Given the description of an element on the screen output the (x, y) to click on. 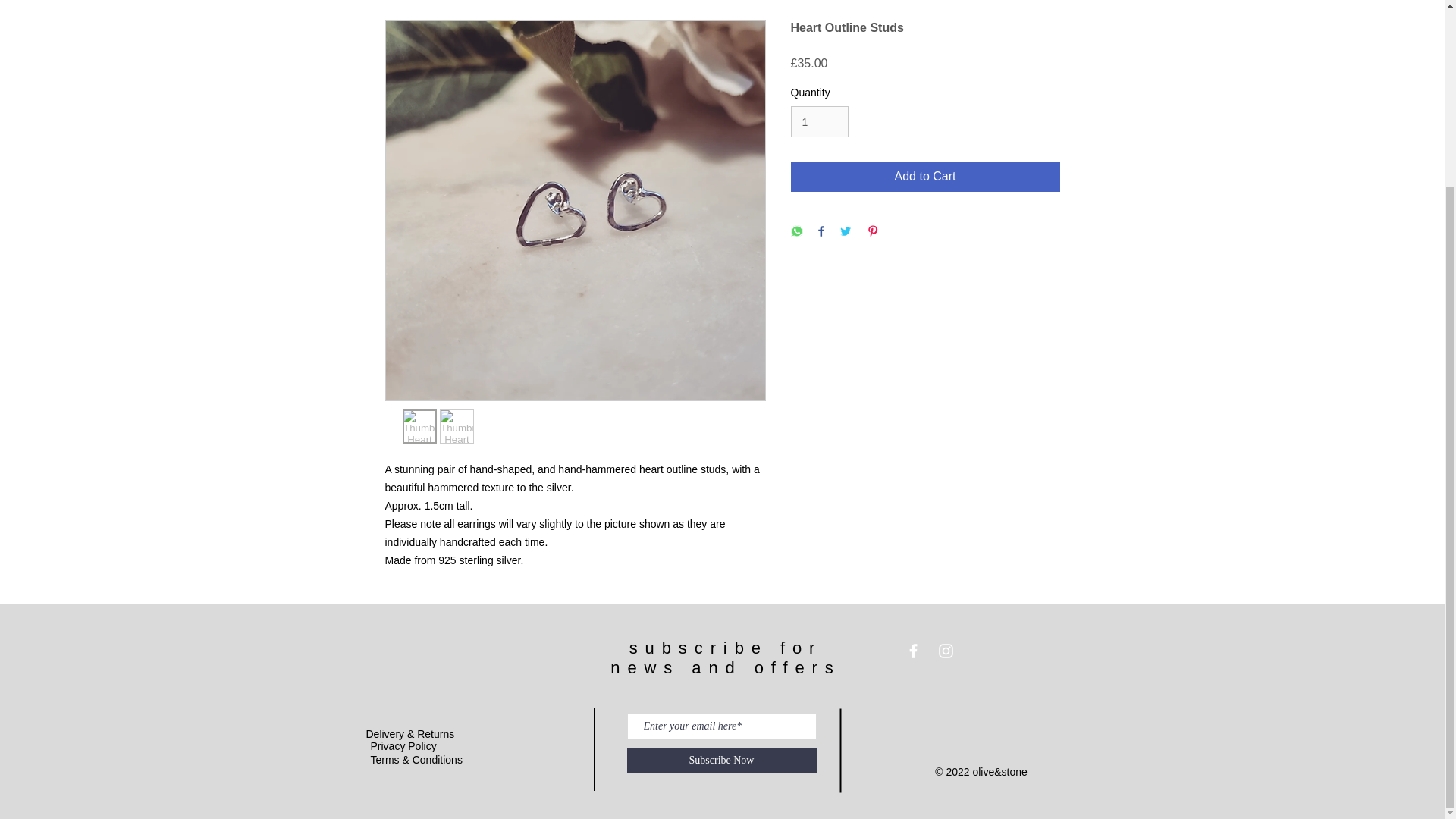
Add to Cart (924, 176)
subscribe for news and offers (725, 657)
Subscribe Now (720, 760)
1 (818, 121)
